Given the description of an element on the screen output the (x, y) to click on. 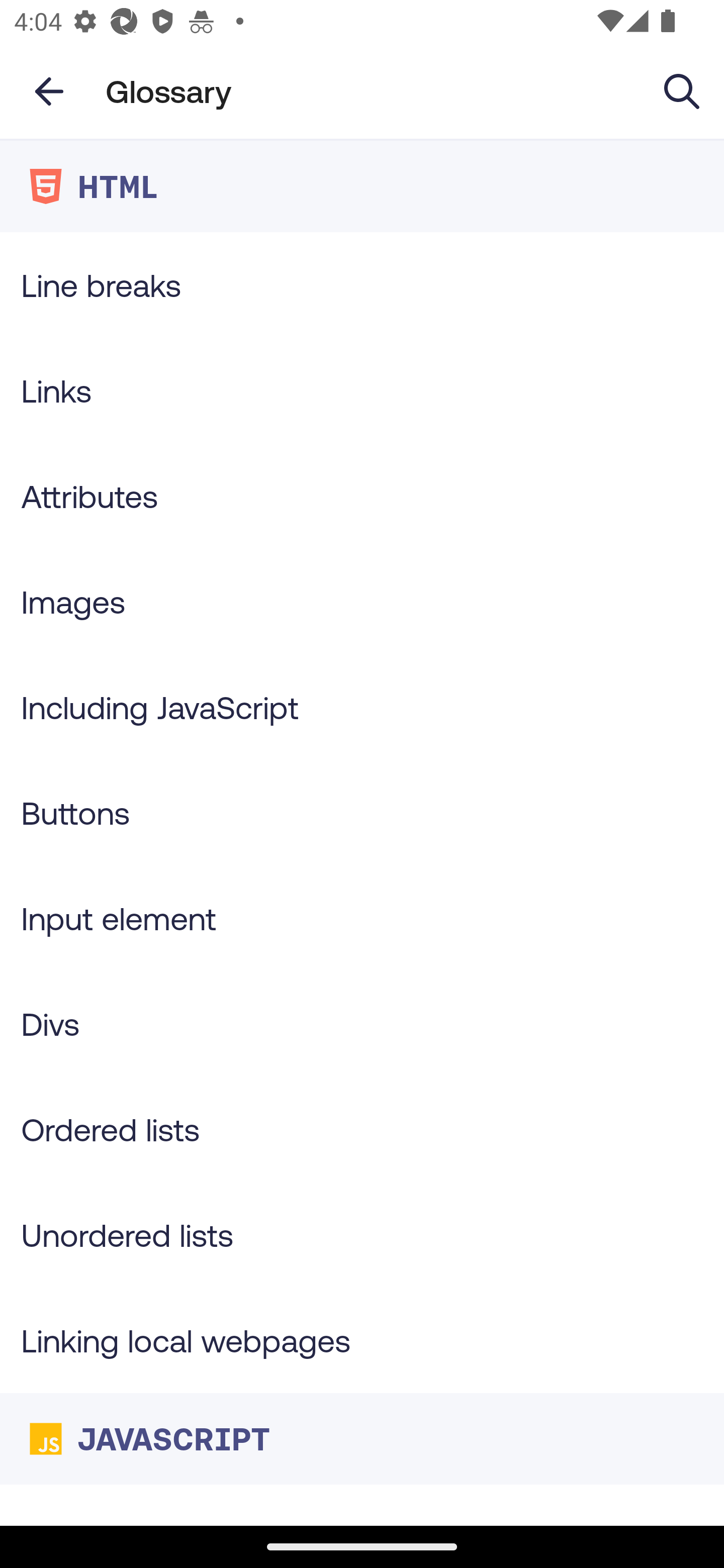
Navigate up (49, 91)
Search Glossary (681, 90)
HTML (362, 186)
Line breaks (362, 284)
Links (362, 390)
Attributes (362, 495)
Images (362, 600)
Including JavaScript (362, 706)
Buttons (362, 812)
Input element (362, 917)
Divs (362, 1023)
Ordered lists (362, 1129)
Unordered lists (362, 1234)
Linking local webpages (362, 1339)
JAVASCRIPT (362, 1438)
